Given the description of an element on the screen output the (x, y) to click on. 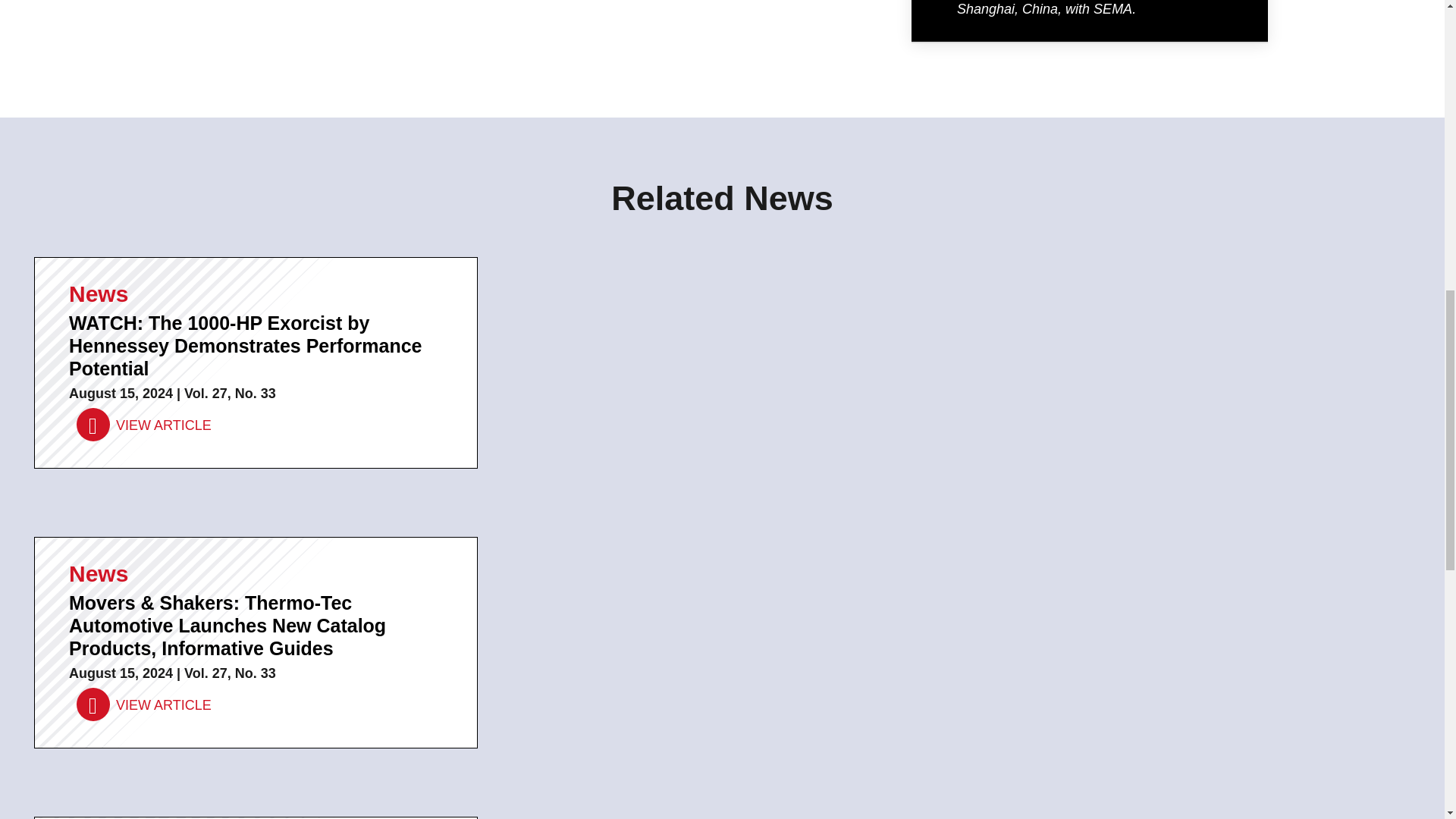
VIEW ARTICLE (143, 425)
VIEW ARTICLE (143, 705)
